Given the description of an element on the screen output the (x, y) to click on. 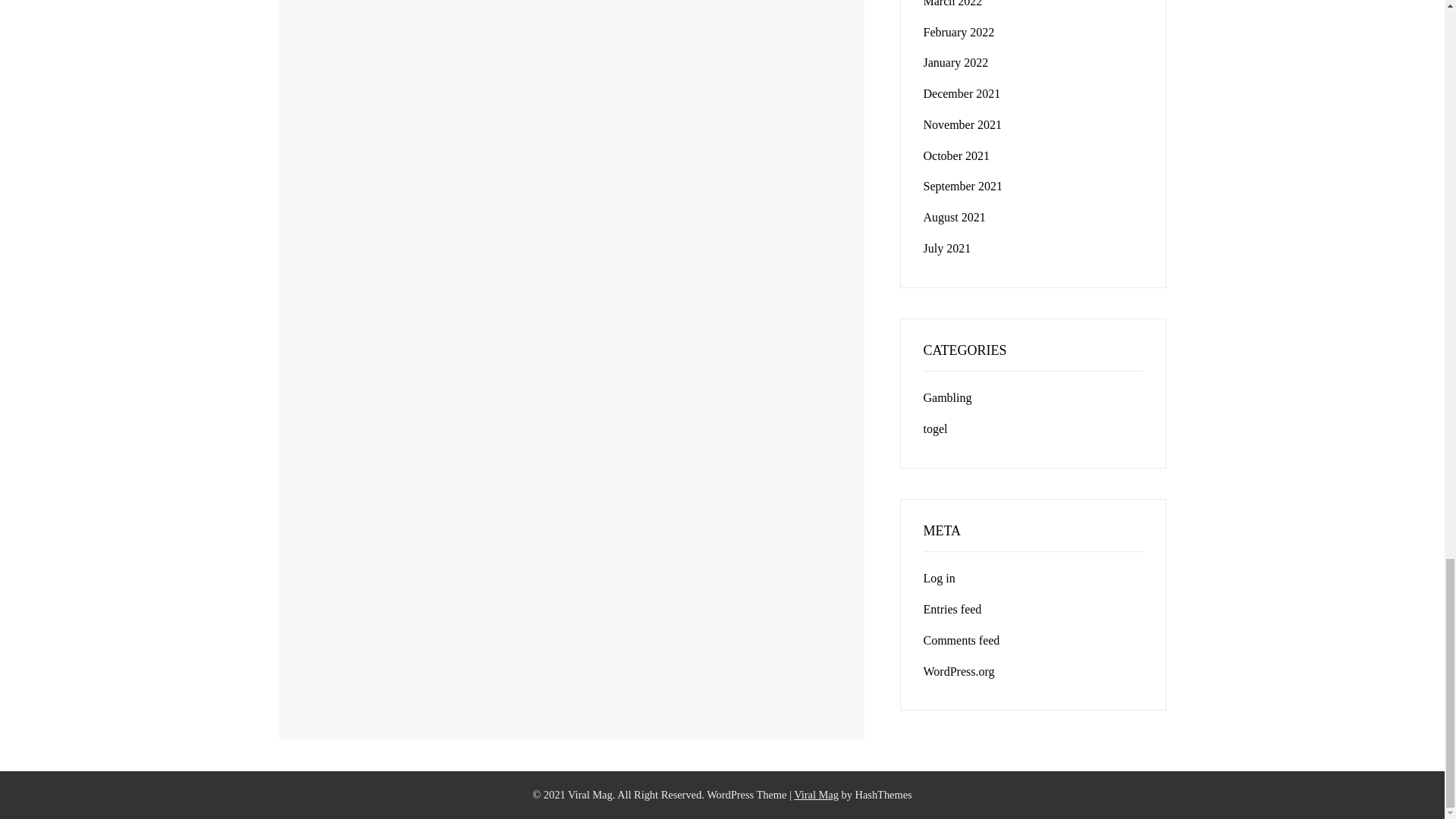
Download Viral News (815, 794)
